Given the description of an element on the screen output the (x, y) to click on. 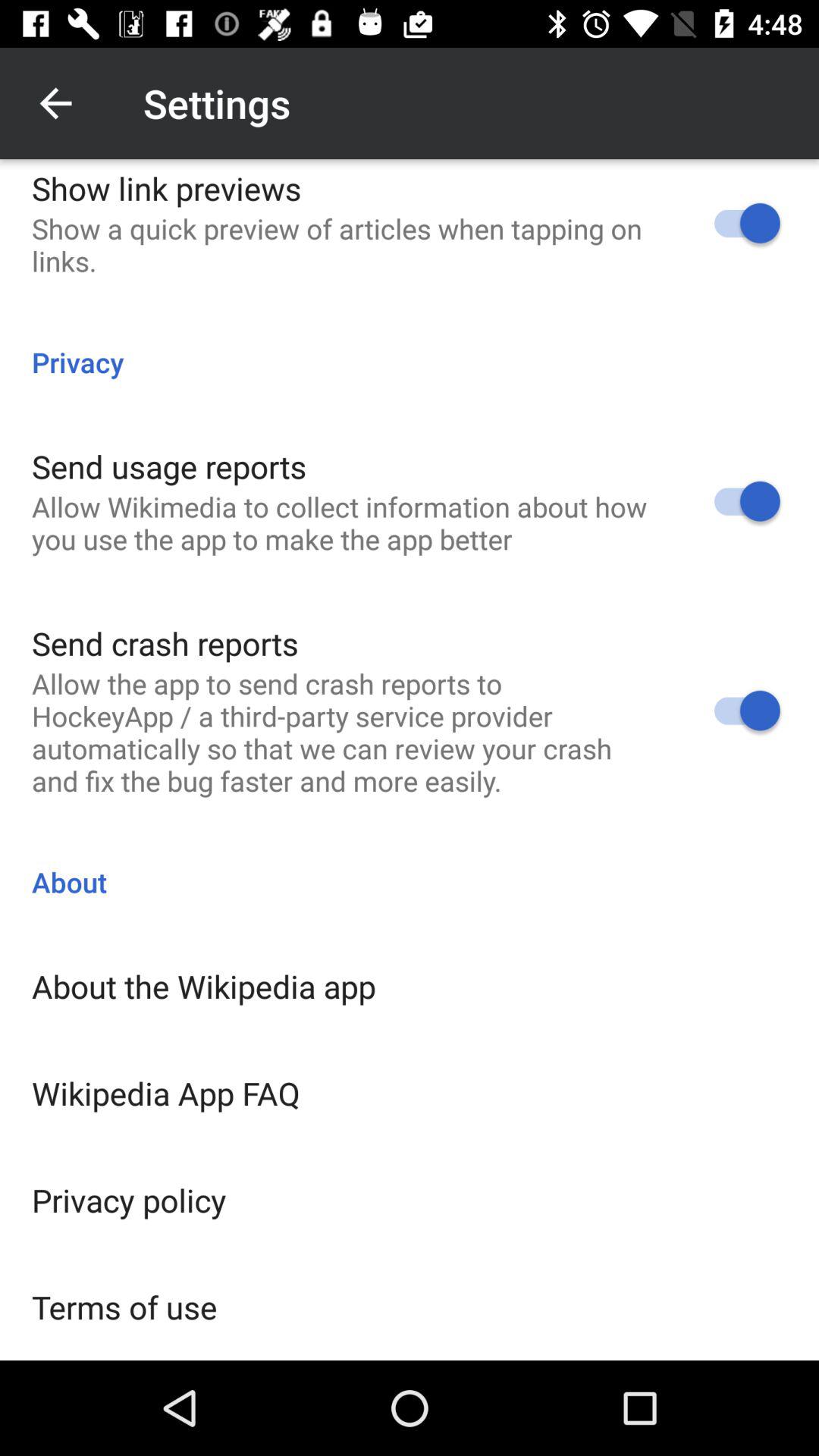
launch item to the left of settings (55, 103)
